Given the description of an element on the screen output the (x, y) to click on. 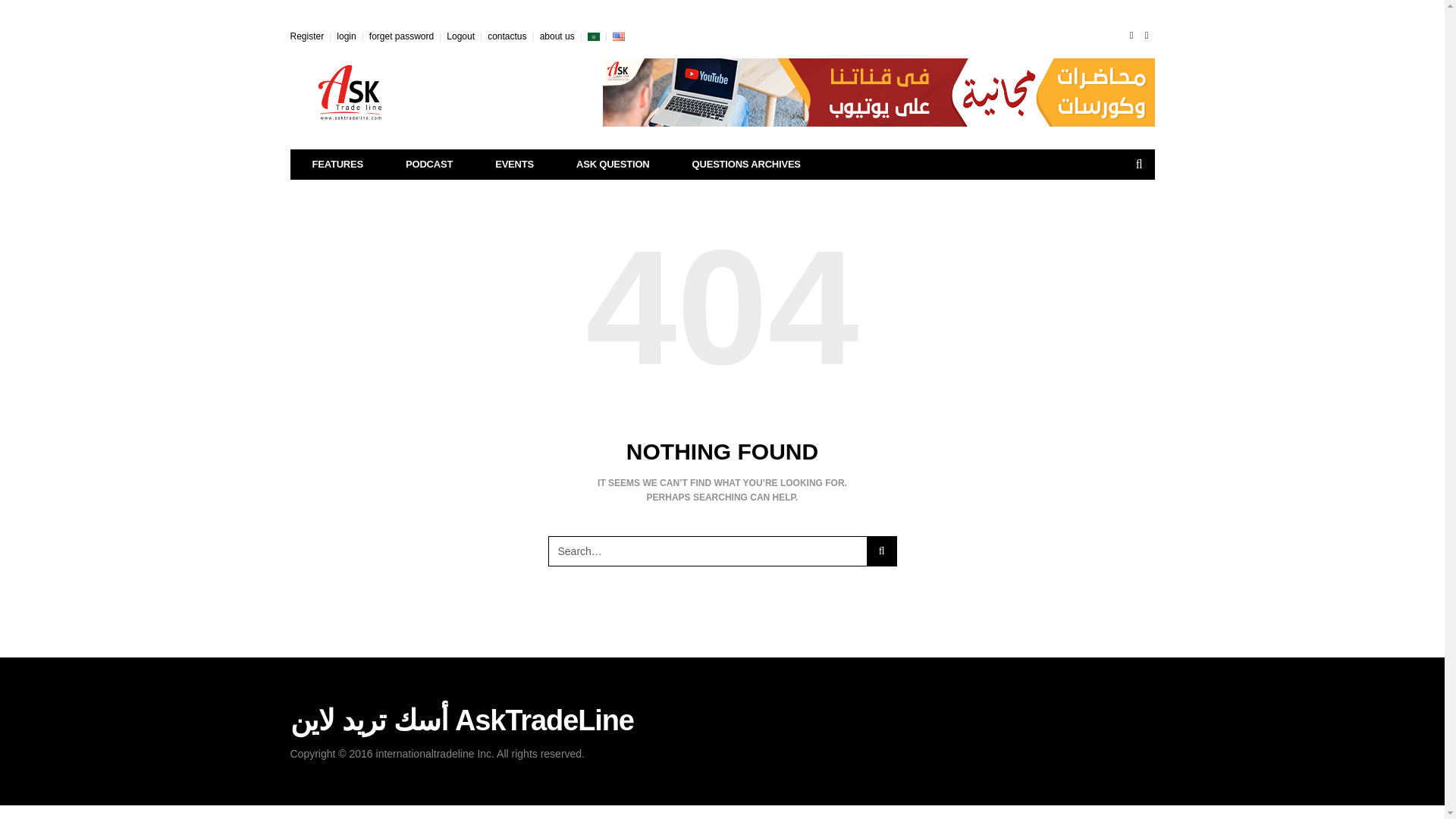
EVENTS (514, 164)
English (618, 36)
PODCAST (429, 164)
Logout (460, 36)
login (345, 36)
FEATURES (338, 164)
Search for: (706, 551)
ASK QUESTION (612, 164)
Register (306, 36)
QUESTIONS ARCHIVES (746, 164)
